Given the description of an element on the screen output the (x, y) to click on. 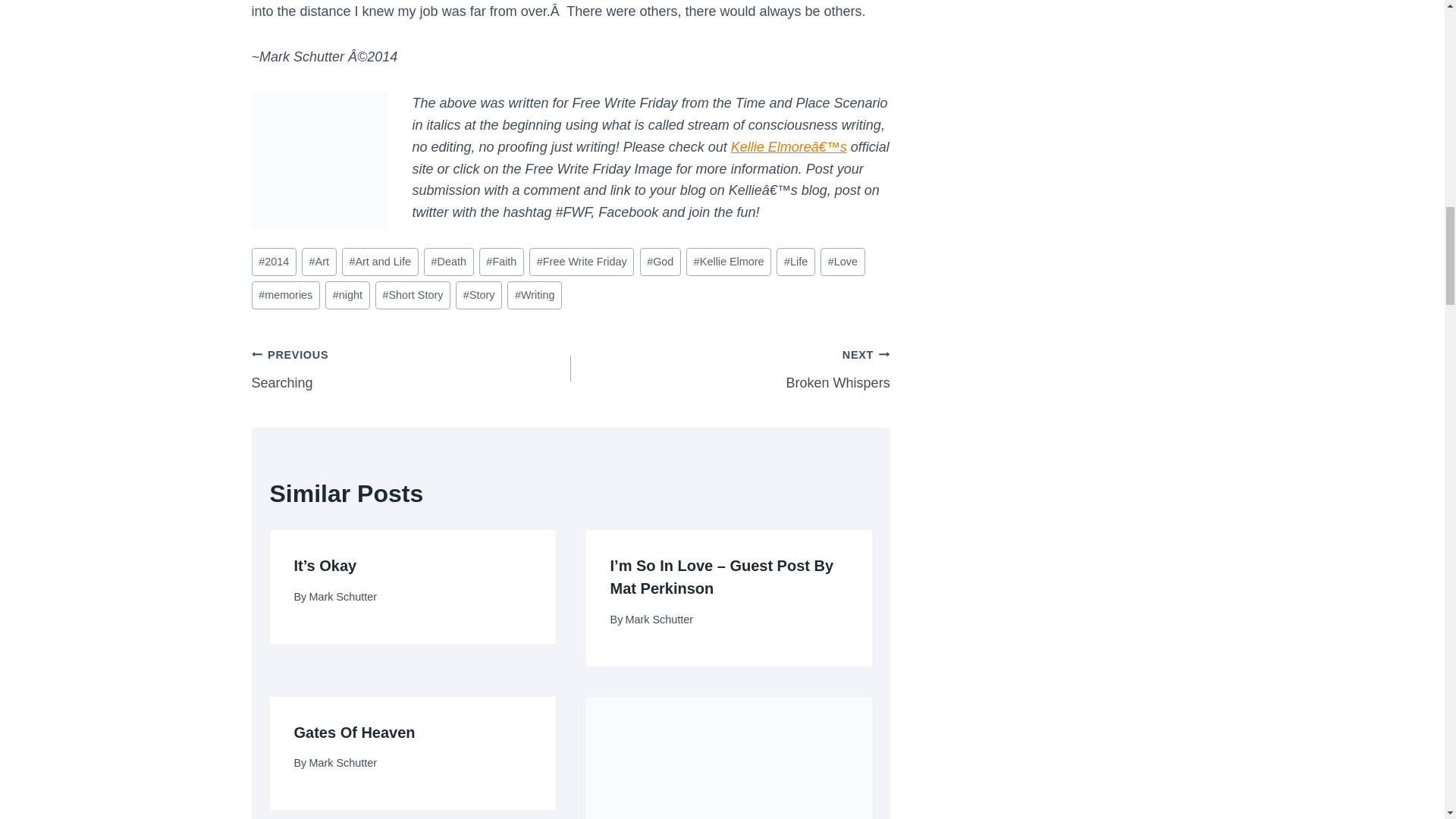
Life (794, 262)
Faith (501, 262)
Short Story (412, 295)
Mark Schutter (342, 596)
Love (410, 368)
Writing (842, 262)
Free Write Friday (534, 295)
2014 (729, 368)
